Given the description of an element on the screen output the (x, y) to click on. 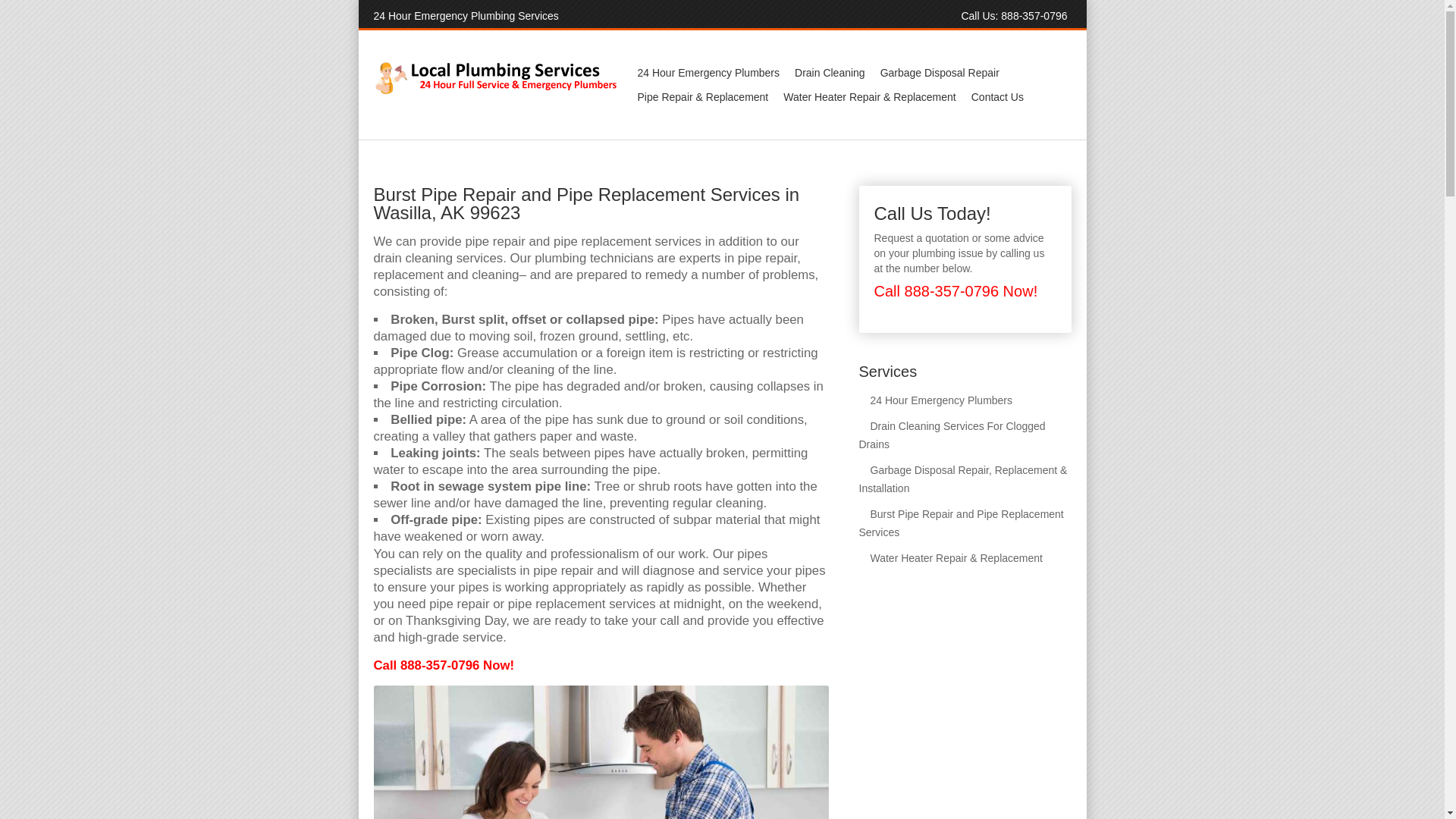
Call 888-357-0796 Now! (954, 290)
24 Hour Emergency Plumbers (708, 72)
Drain Cleaning (829, 72)
Garbage Disposal Repair (940, 72)
Call 888-357-0796 Now! (442, 665)
Burst Pipe Repair and Pipe Replacement Services (960, 522)
24 Hour Emergency Plumbers (935, 399)
888-357-0796 (1034, 15)
Contact Us (997, 96)
who installs water heaters (600, 752)
